Given the description of an element on the screen output the (x, y) to click on. 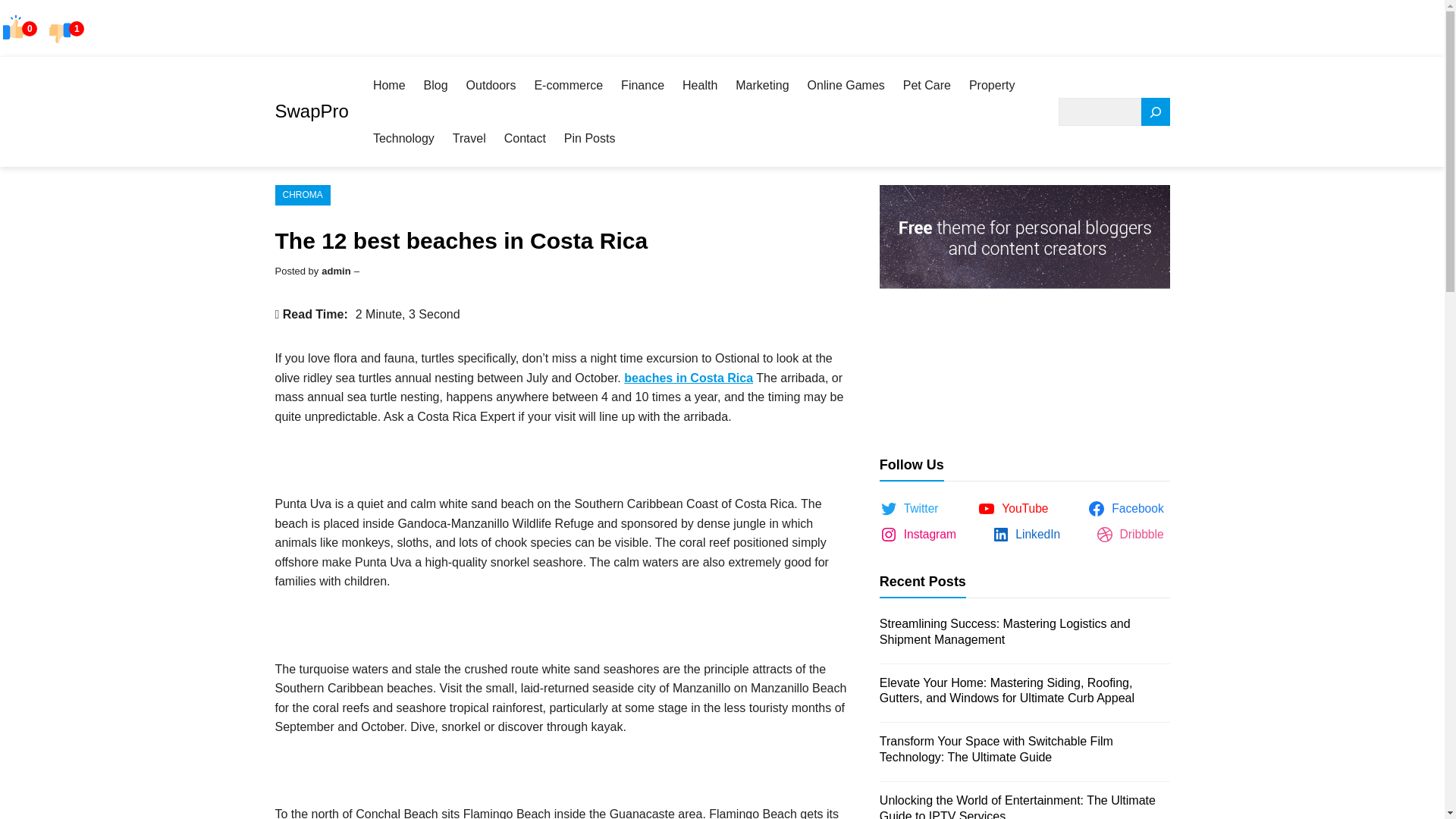
Travel (469, 138)
Home (389, 85)
LinkedIn (1029, 534)
Property (991, 85)
SwapPro (311, 110)
Health (699, 85)
Finance (642, 85)
CHROMA (302, 195)
Instagram (920, 534)
Dribbble (1133, 534)
